Given the description of an element on the screen output the (x, y) to click on. 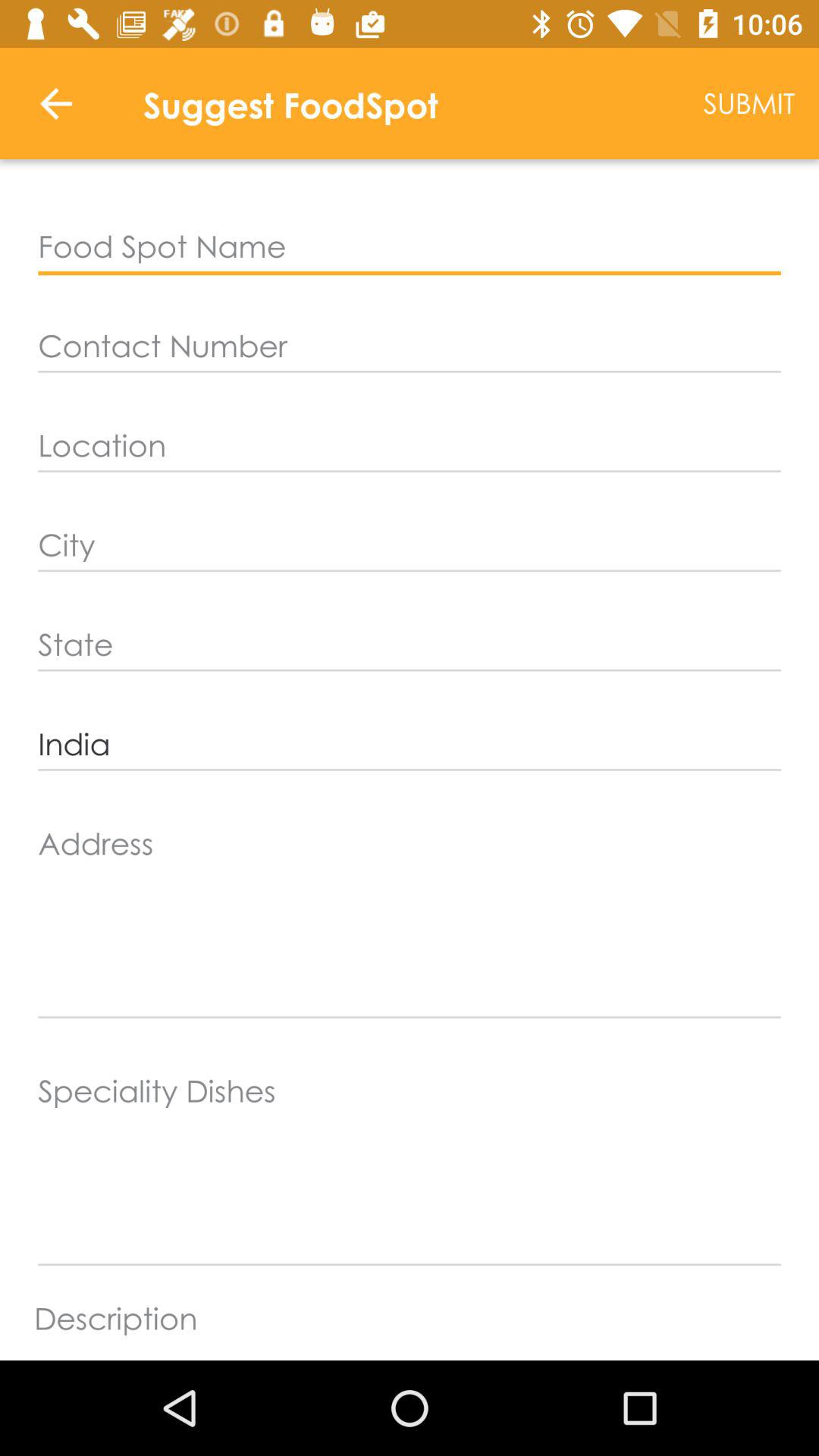
select the item to the right of the suggest foodspot item (749, 103)
